Given the description of an element on the screen output the (x, y) to click on. 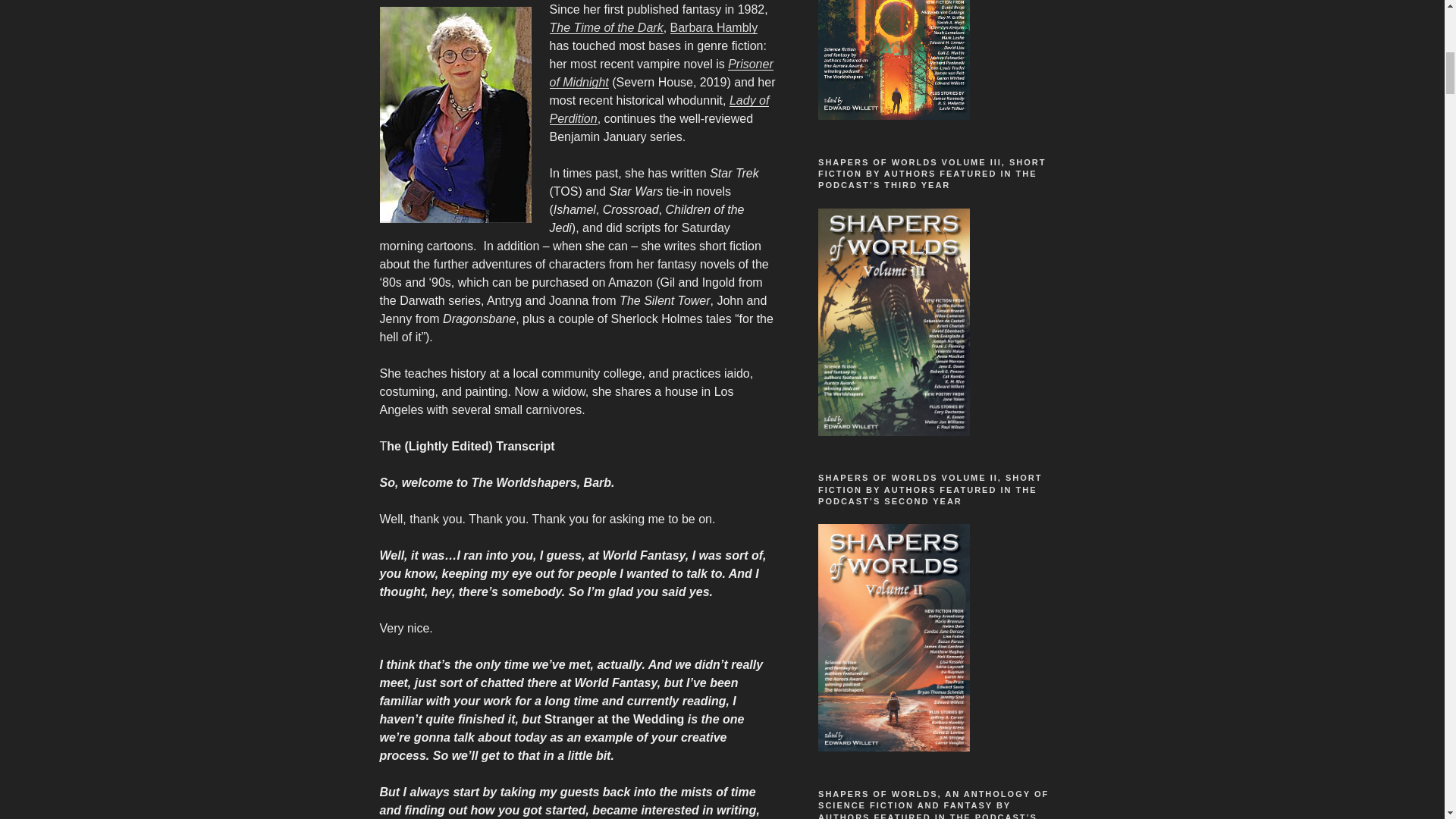
Barbara Hambly (713, 27)
The Time of the Dark (605, 27)
Prisoner of Midnight (660, 72)
Lady of Perdition (658, 109)
